Given the description of an element on the screen output the (x, y) to click on. 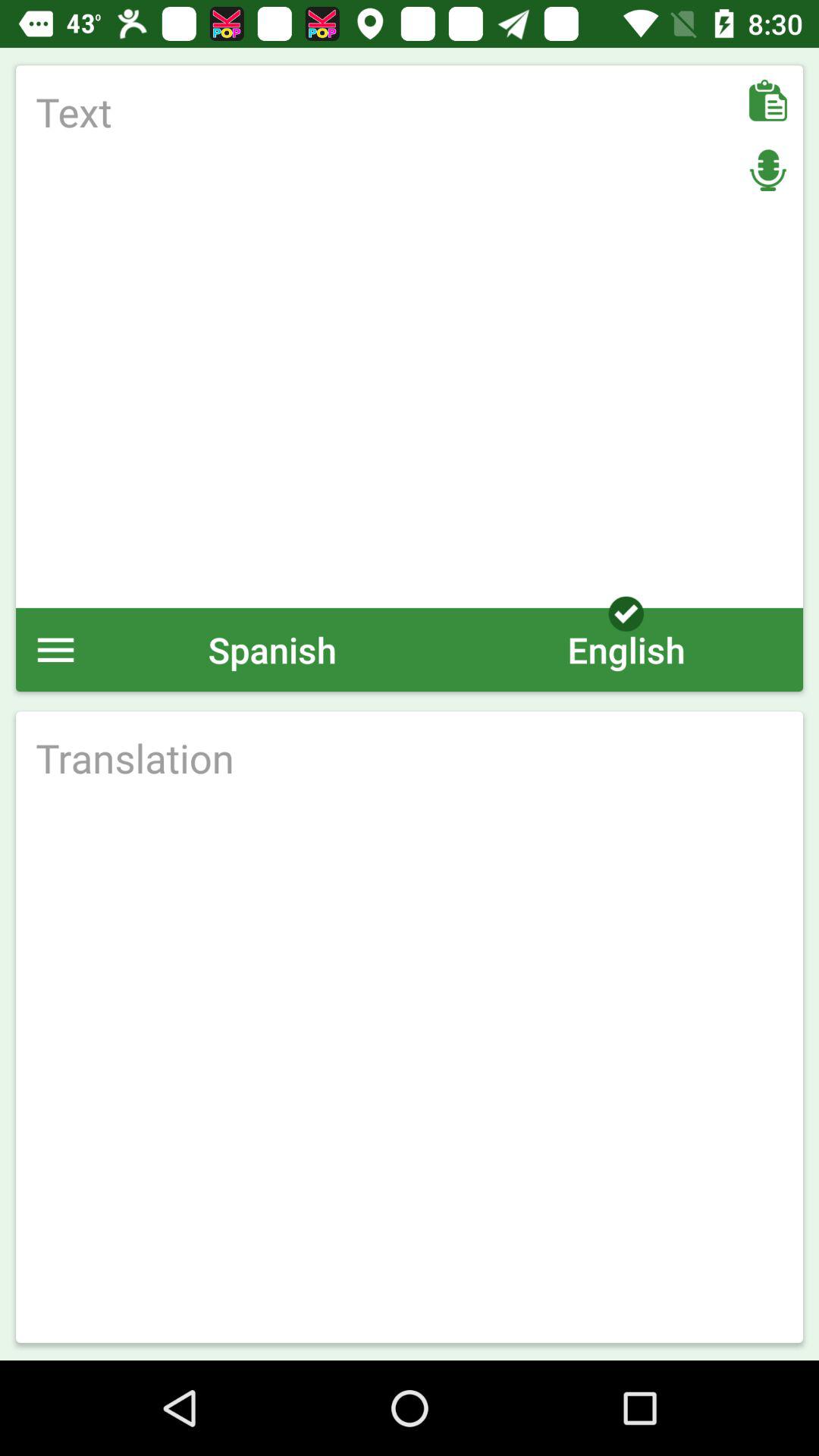
click the item to the right of spanish (626, 649)
